Given the description of an element on the screen output the (x, y) to click on. 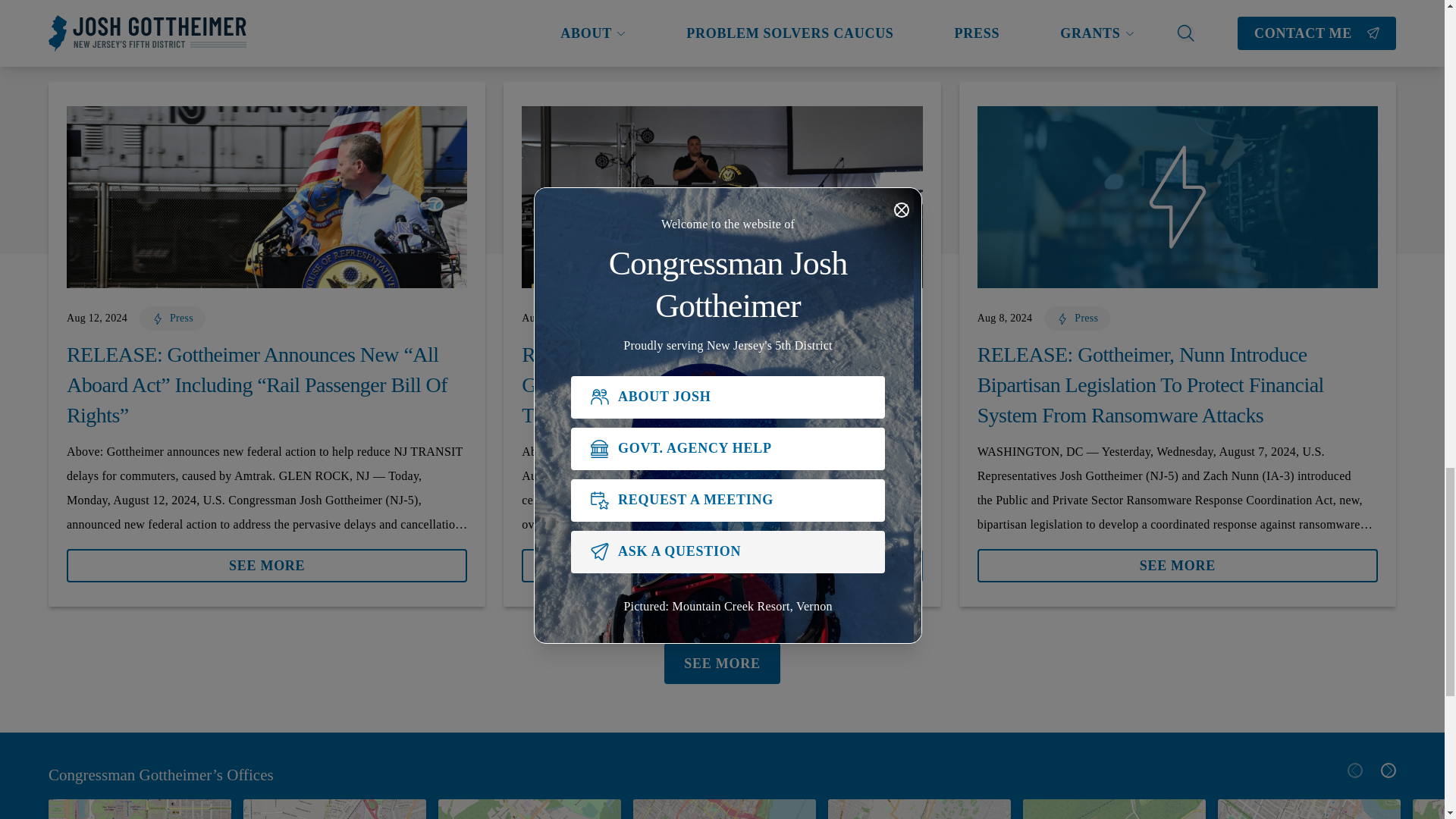
Press (172, 320)
SEE MORE (721, 565)
SEE MORE (266, 559)
SEE MORE (266, 565)
Press (622, 320)
SEE MORE (721, 559)
